Given the description of an element on the screen output the (x, y) to click on. 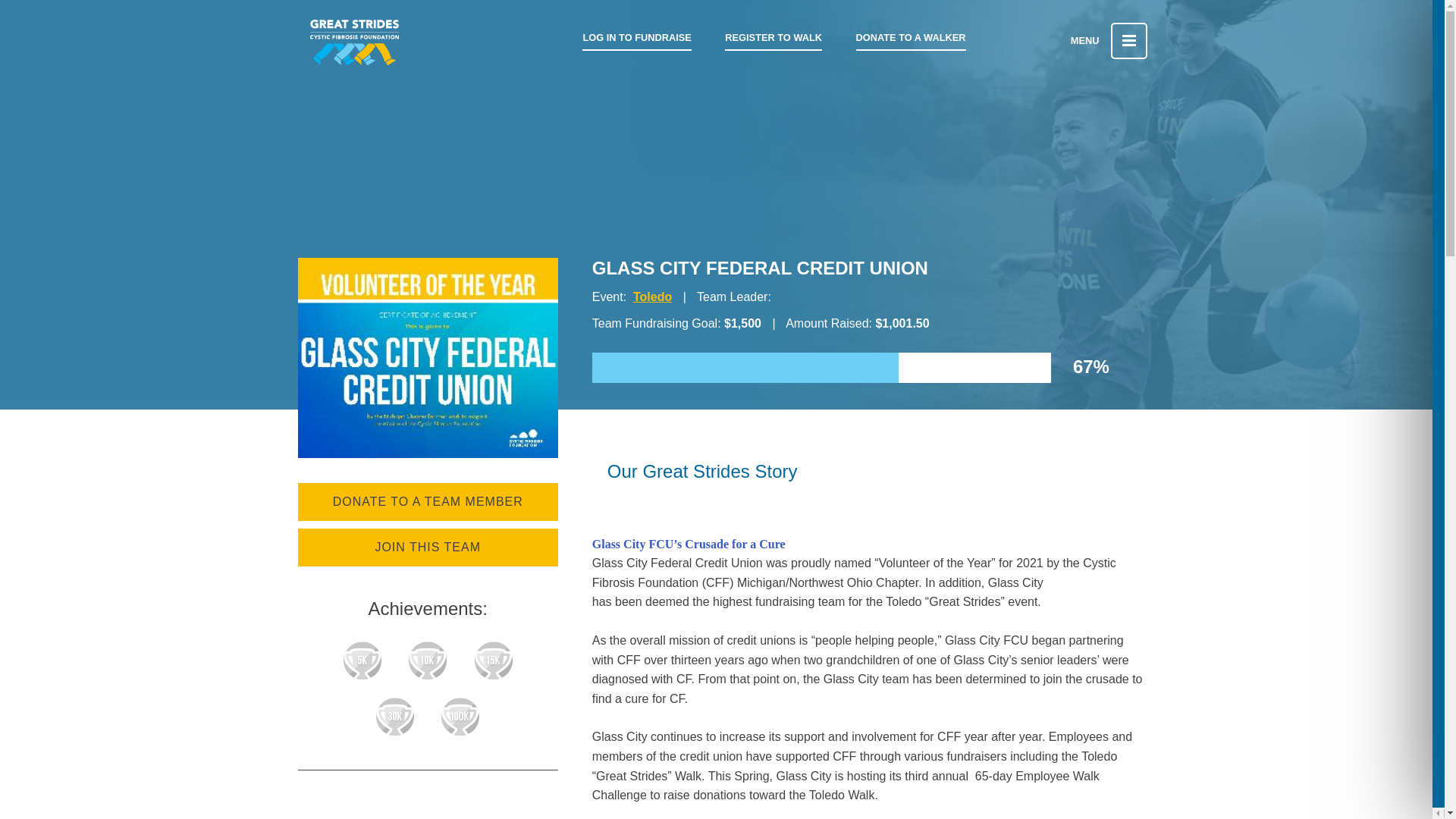
LOG IN TO FUNDRAISE (636, 37)
JOIN THIS TEAM (427, 547)
Toledo (652, 296)
REGISTER TO WALK (773, 37)
DONATE TO A WALKER (911, 37)
DONATE TO A TEAM MEMBER (427, 501)
